Given the description of an element on the screen output the (x, y) to click on. 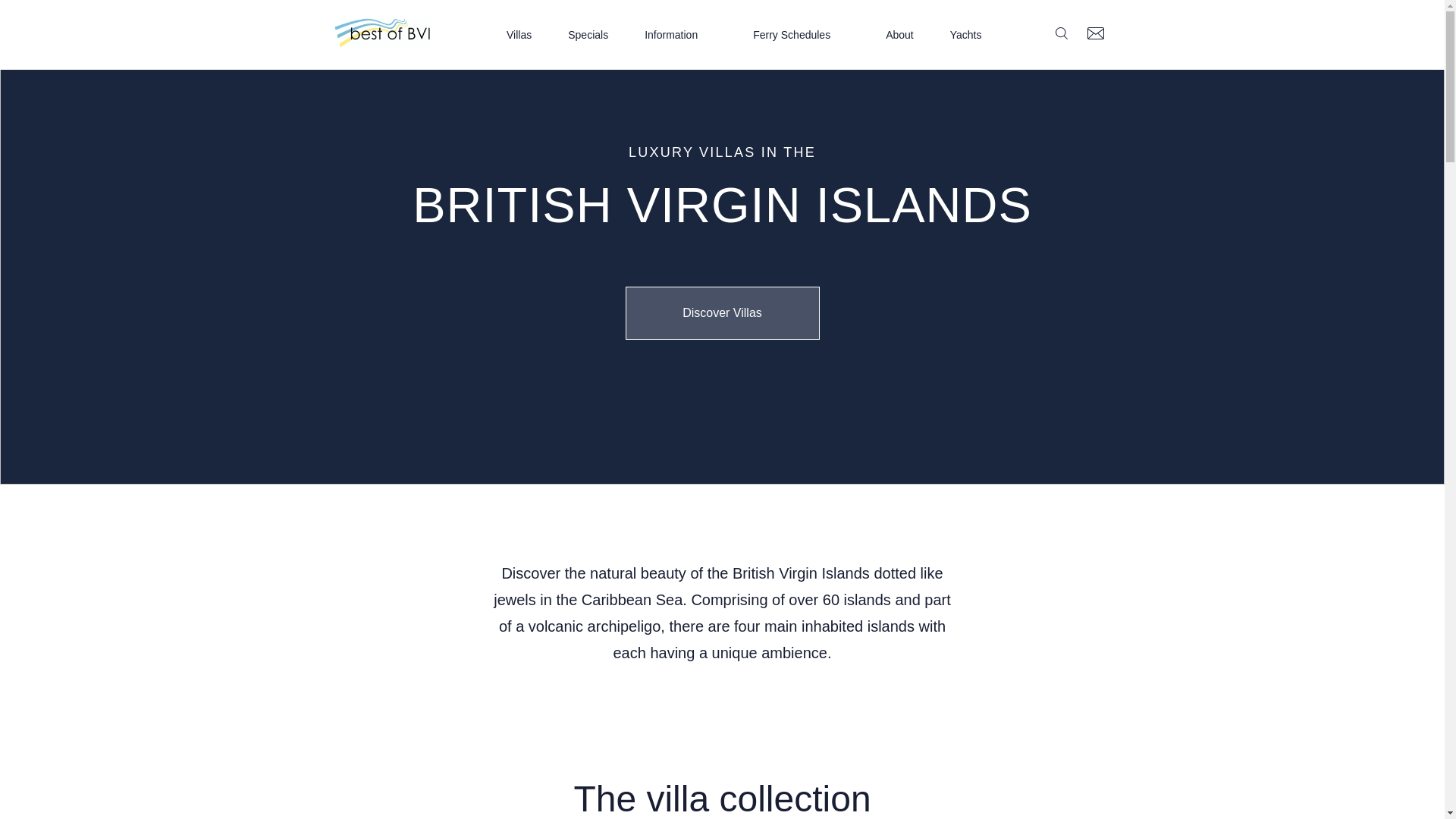
Discover Villas (721, 312)
About (899, 34)
Yachts (965, 34)
Specials (588, 34)
Villas (518, 34)
Information (680, 34)
Ferry Schedules (801, 34)
